Given the description of an element on the screen output the (x, y) to click on. 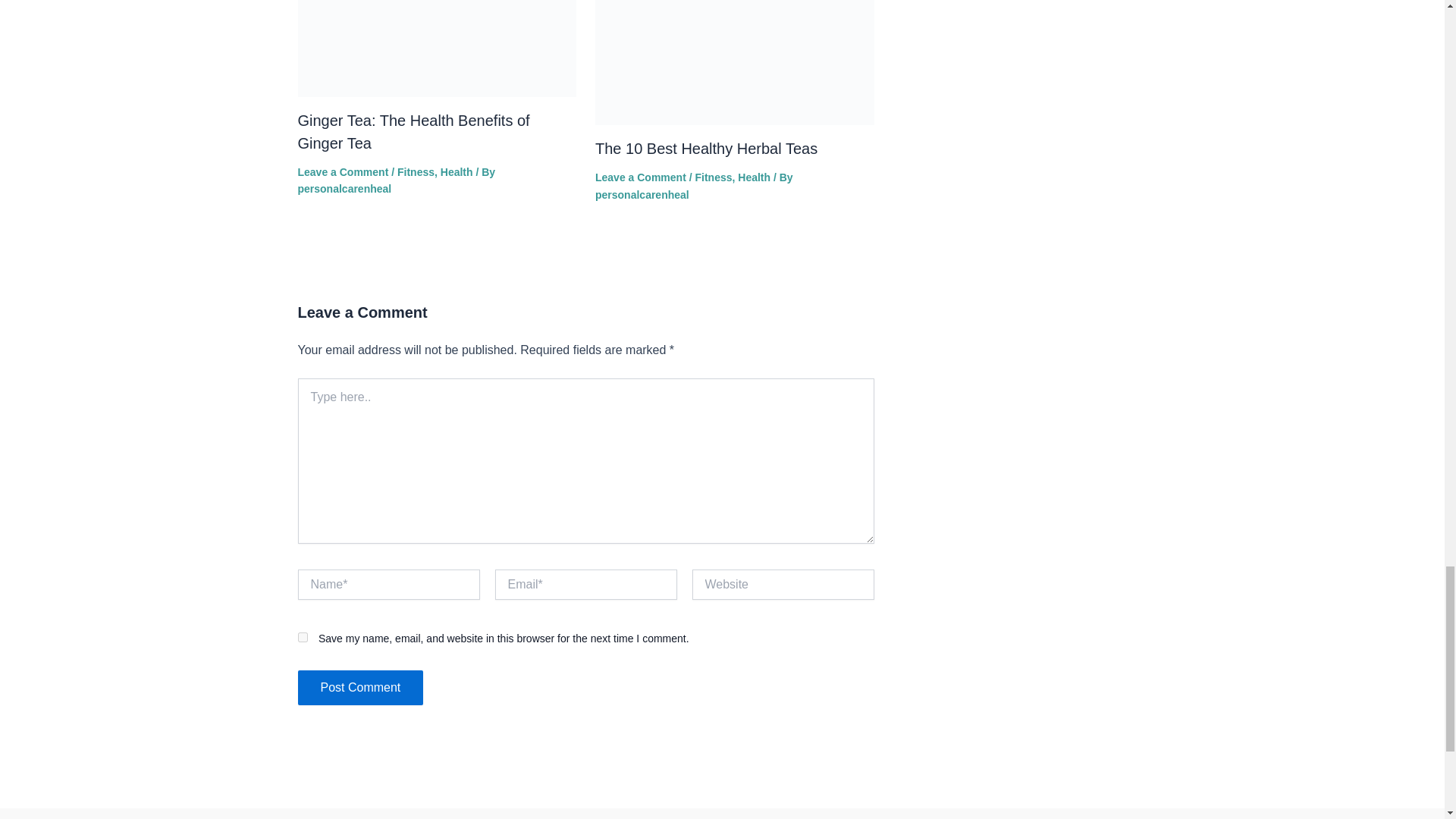
View all posts by personalcarenheal (344, 188)
Fitness (713, 177)
Fitness (415, 172)
yes (302, 637)
Ginger Tea: The Health Benefits of Ginger Tea (413, 131)
View all posts by personalcarenheal (641, 193)
personalcarenheal (344, 188)
The 10 Best Healthy Herbal Teas (705, 148)
Post Comment (360, 687)
Health (457, 172)
